Given the description of an element on the screen output the (x, y) to click on. 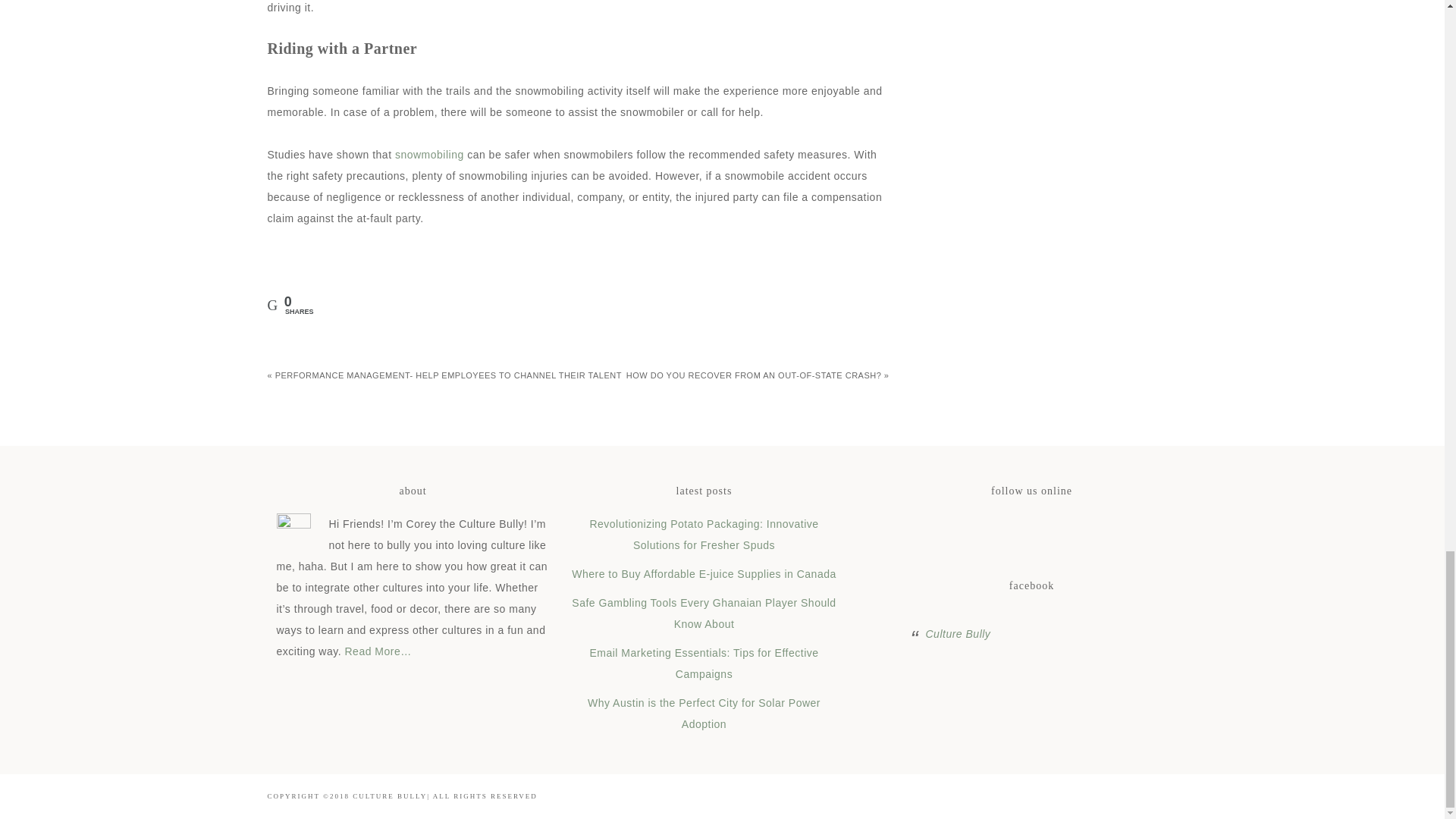
Culture Bully (957, 633)
snowmobiling (429, 154)
Why Austin is the Perfect City for Solar Power Adoption (704, 713)
Email Marketing Essentials: Tips for Effective Campaigns (703, 663)
Where to Buy Affordable E-juice Supplies in Canada (703, 573)
Safe Gambling Tools Every Ghanaian Player Should Know About (703, 613)
